Given the description of an element on the screen output the (x, y) to click on. 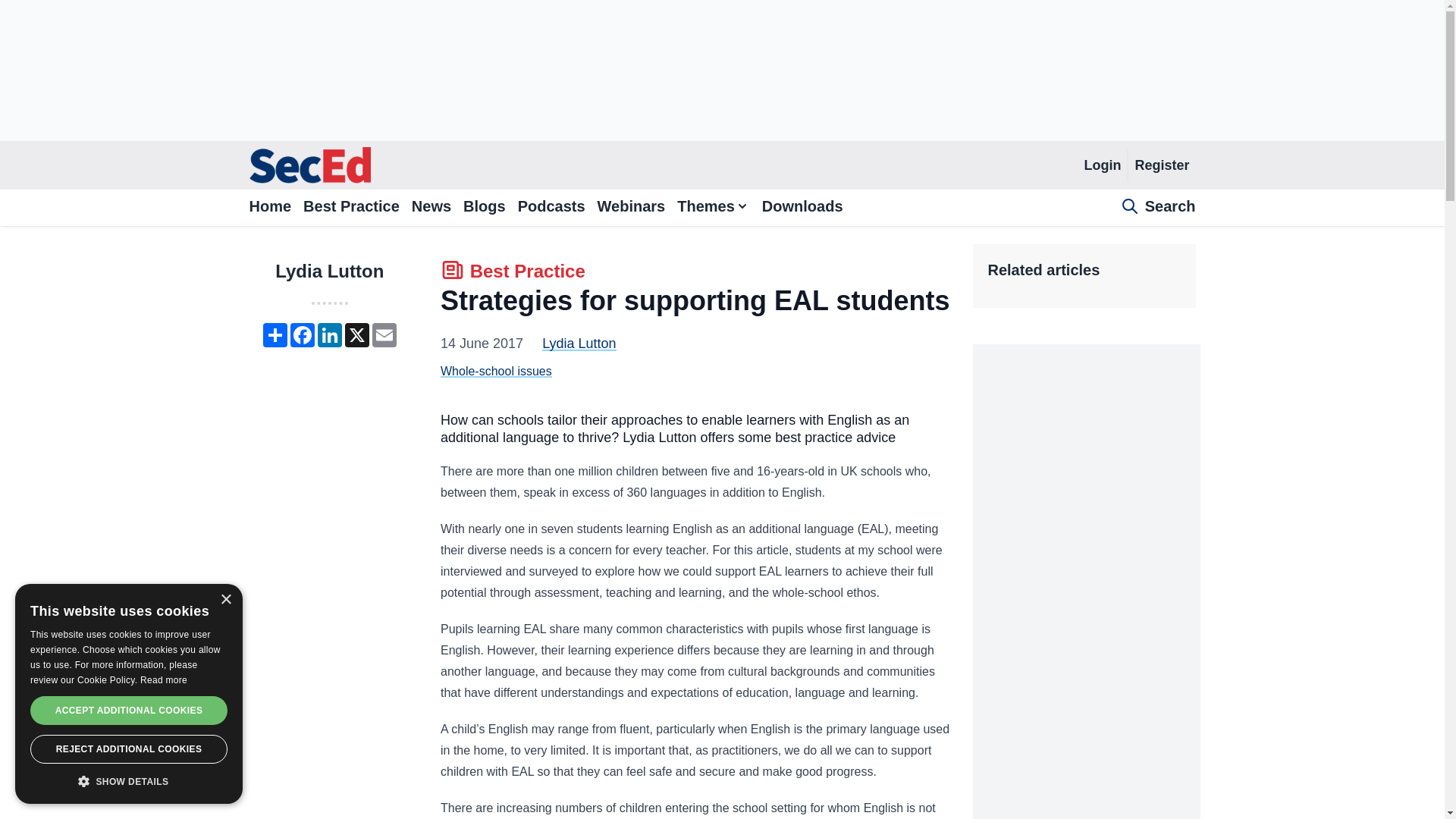
Whole-school issues (496, 370)
Themes (713, 207)
Lydia Lutton (329, 271)
Login (578, 343)
Facebook (1101, 164)
Blogs (301, 334)
Register (484, 207)
Webinars (1160, 164)
Best Practice (630, 207)
